Given the description of an element on the screen output the (x, y) to click on. 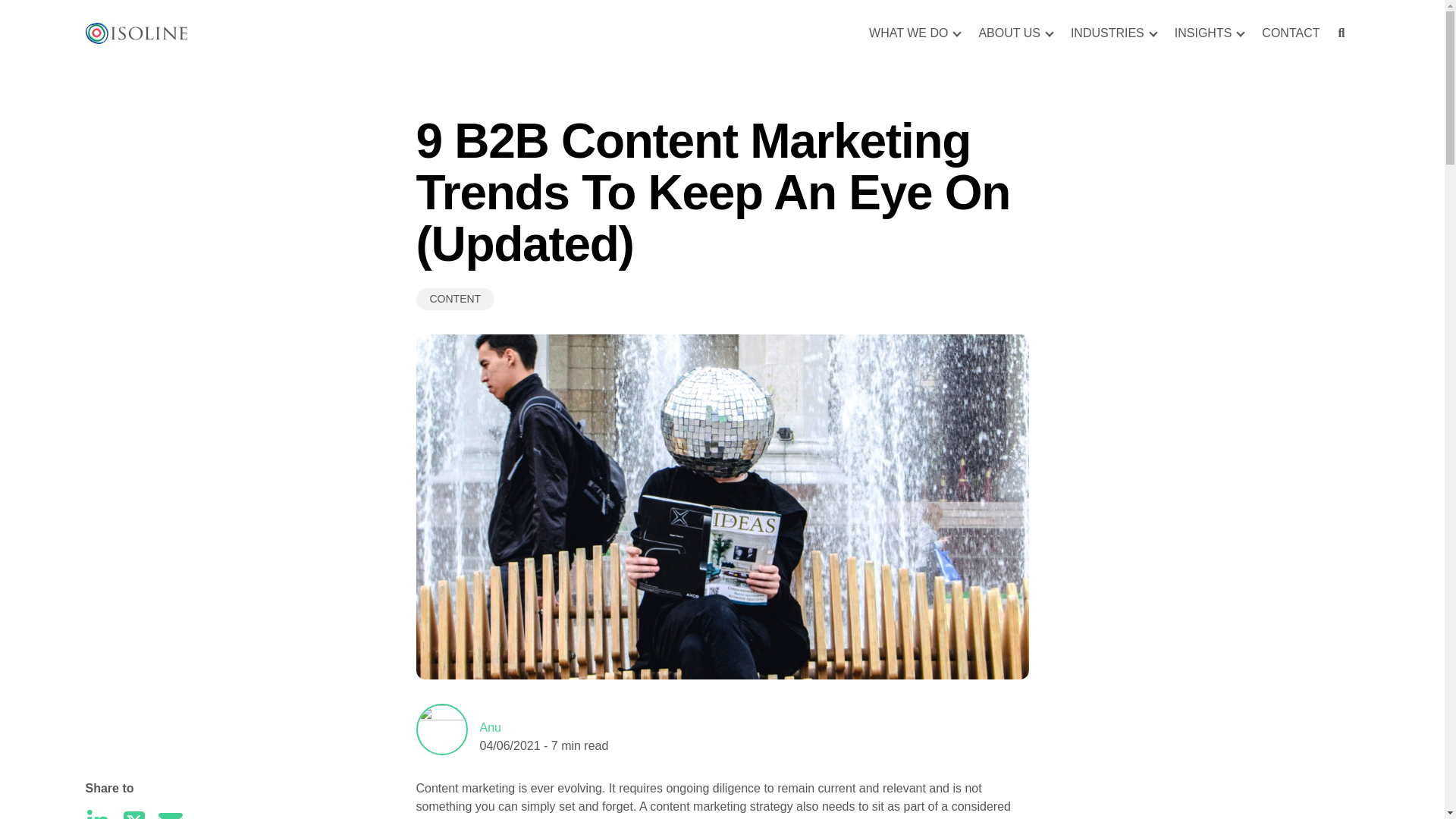
Anu (489, 726)
WHAT WE DO (914, 33)
What we do (914, 33)
About Us (1015, 33)
Industries (1113, 33)
INDUSTRIES (1113, 33)
ABOUT US (1015, 33)
CONTACT (1289, 33)
INSIGHTS (1209, 33)
